Given the description of an element on the screen output the (x, y) to click on. 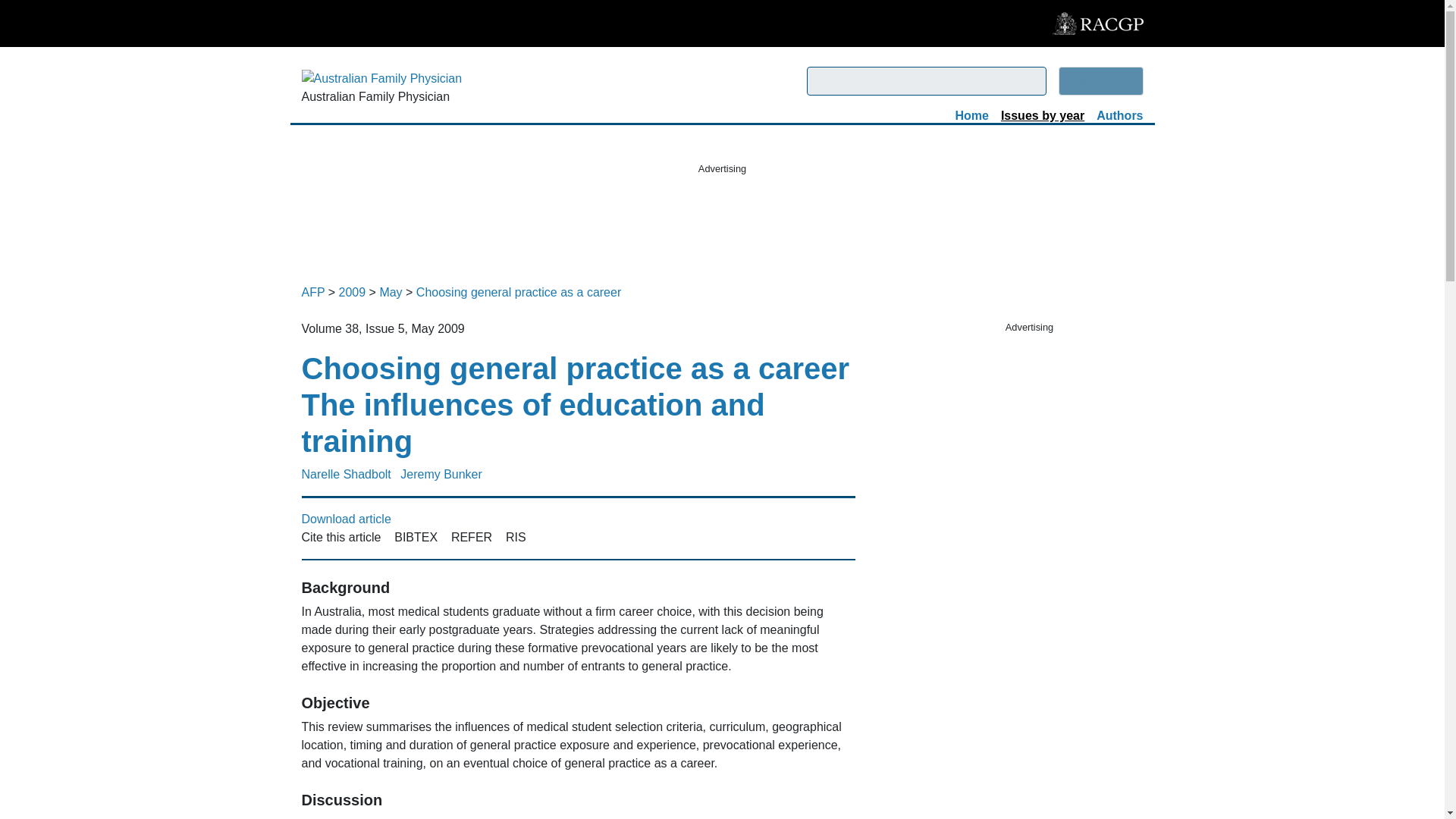
Authors (1119, 115)
Narelle Shadbolt (349, 475)
AFP (312, 291)
Issues by year (1042, 115)
Download article (346, 518)
Home (971, 115)
REFER (471, 536)
2009 (352, 291)
Jeremy Bunker (443, 475)
RIS (515, 536)
